Given the description of an element on the screen output the (x, y) to click on. 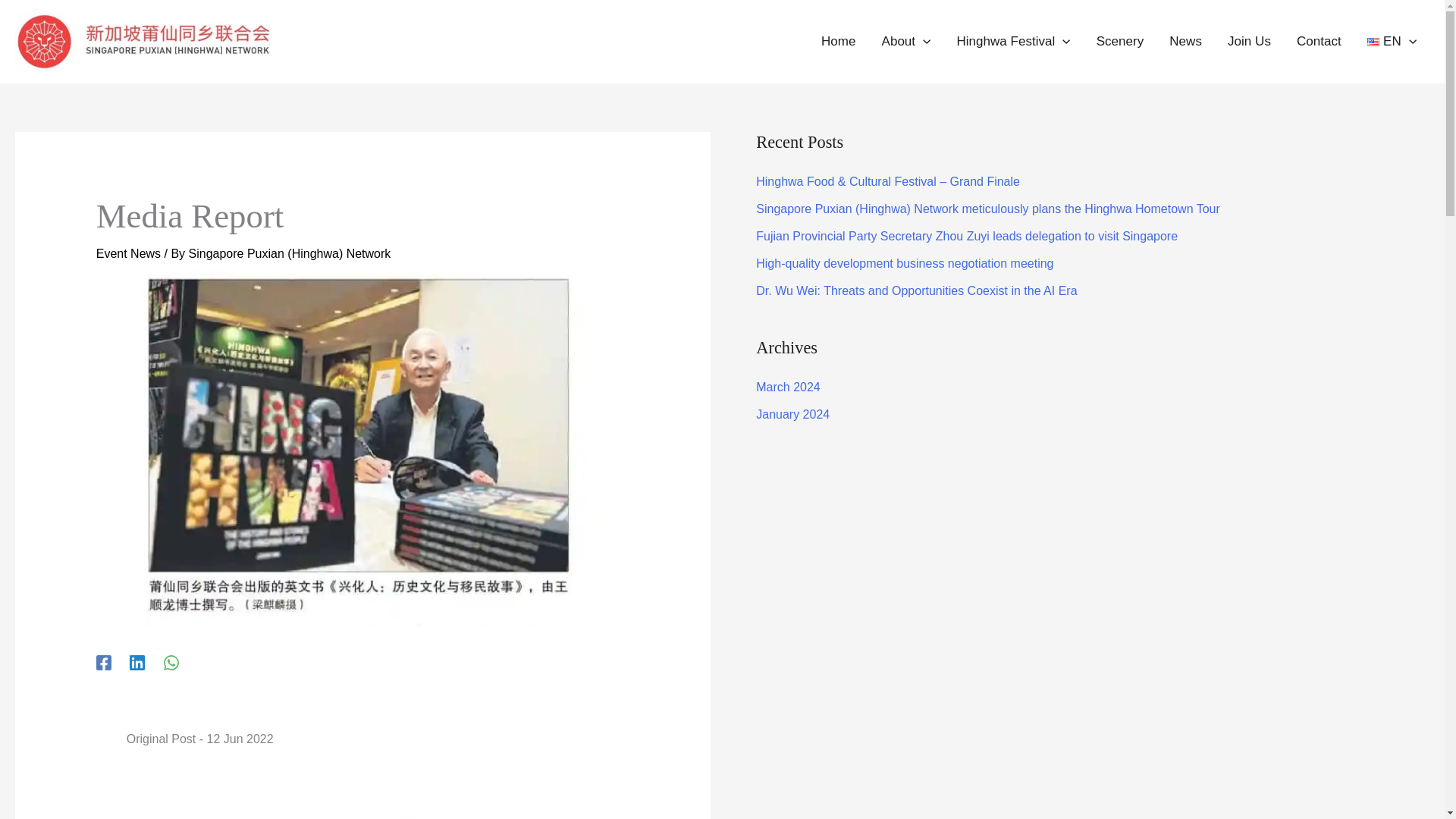
About (905, 41)
Scenery (1120, 41)
Contact (1319, 41)
Join Us (1249, 41)
EN (1391, 41)
Hinghwa Festival (1013, 41)
